Given the description of an element on the screen output the (x, y) to click on. 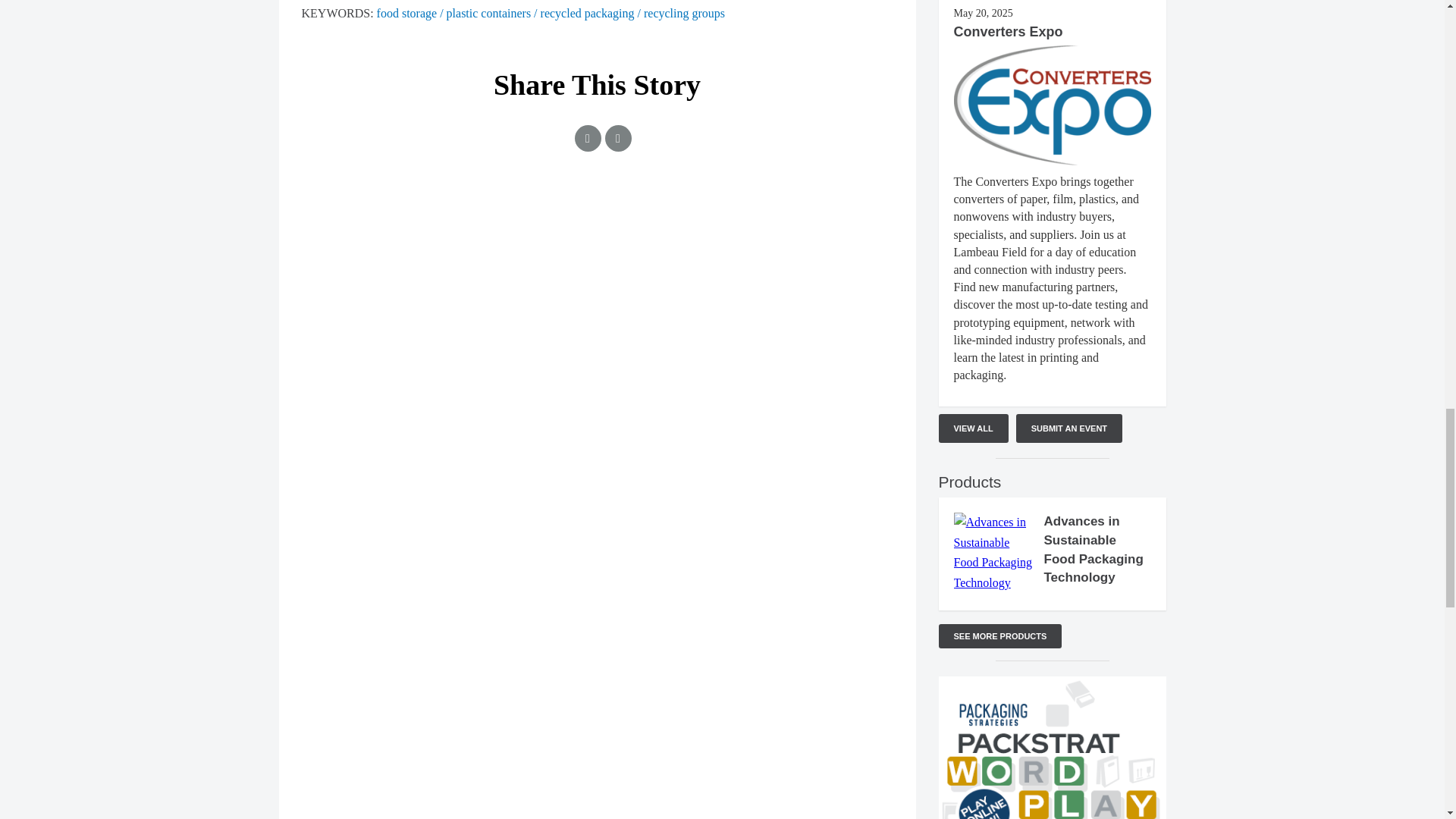
Converters Expo (1007, 31)
